Given the description of an element on the screen output the (x, y) to click on. 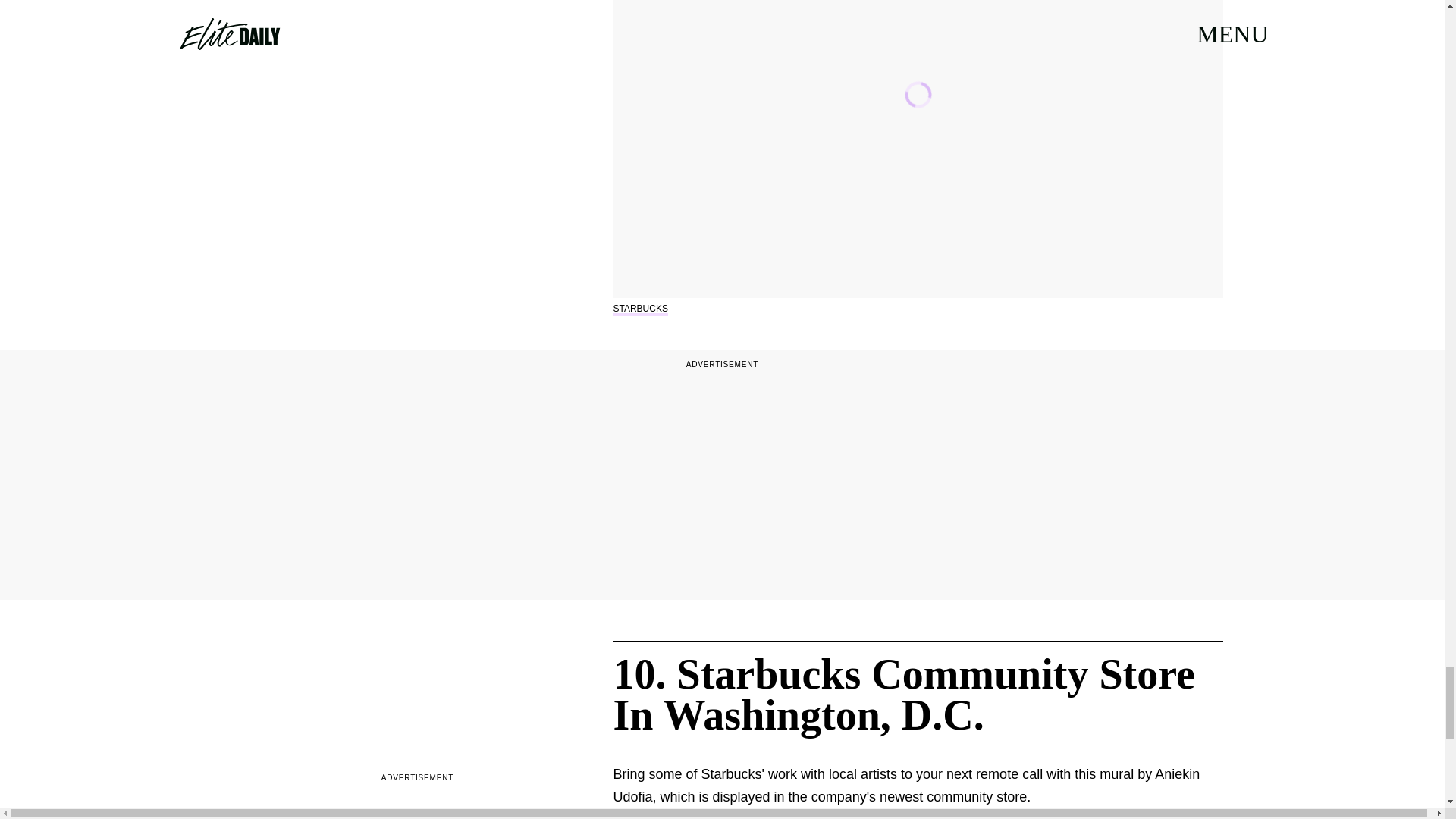
STARBUCKS (639, 308)
